Given the description of an element on the screen output the (x, y) to click on. 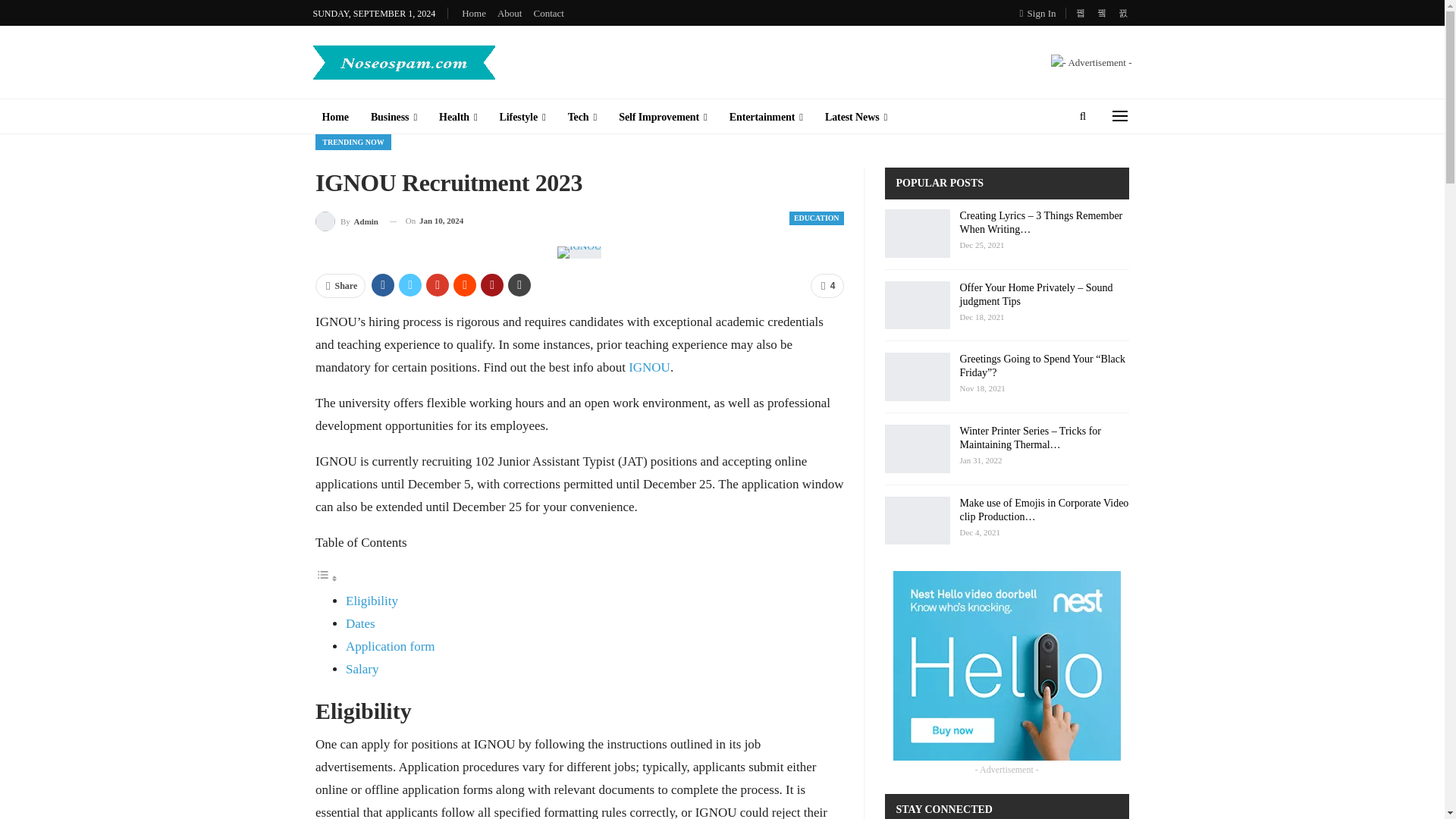
About (509, 12)
Home (334, 117)
Application form (390, 646)
Contact (547, 12)
Sign In (1041, 13)
Dates (360, 623)
Home (473, 12)
Salary (362, 668)
Eligibility (371, 600)
Lifestyle (522, 117)
